Given the description of an element on the screen output the (x, y) to click on. 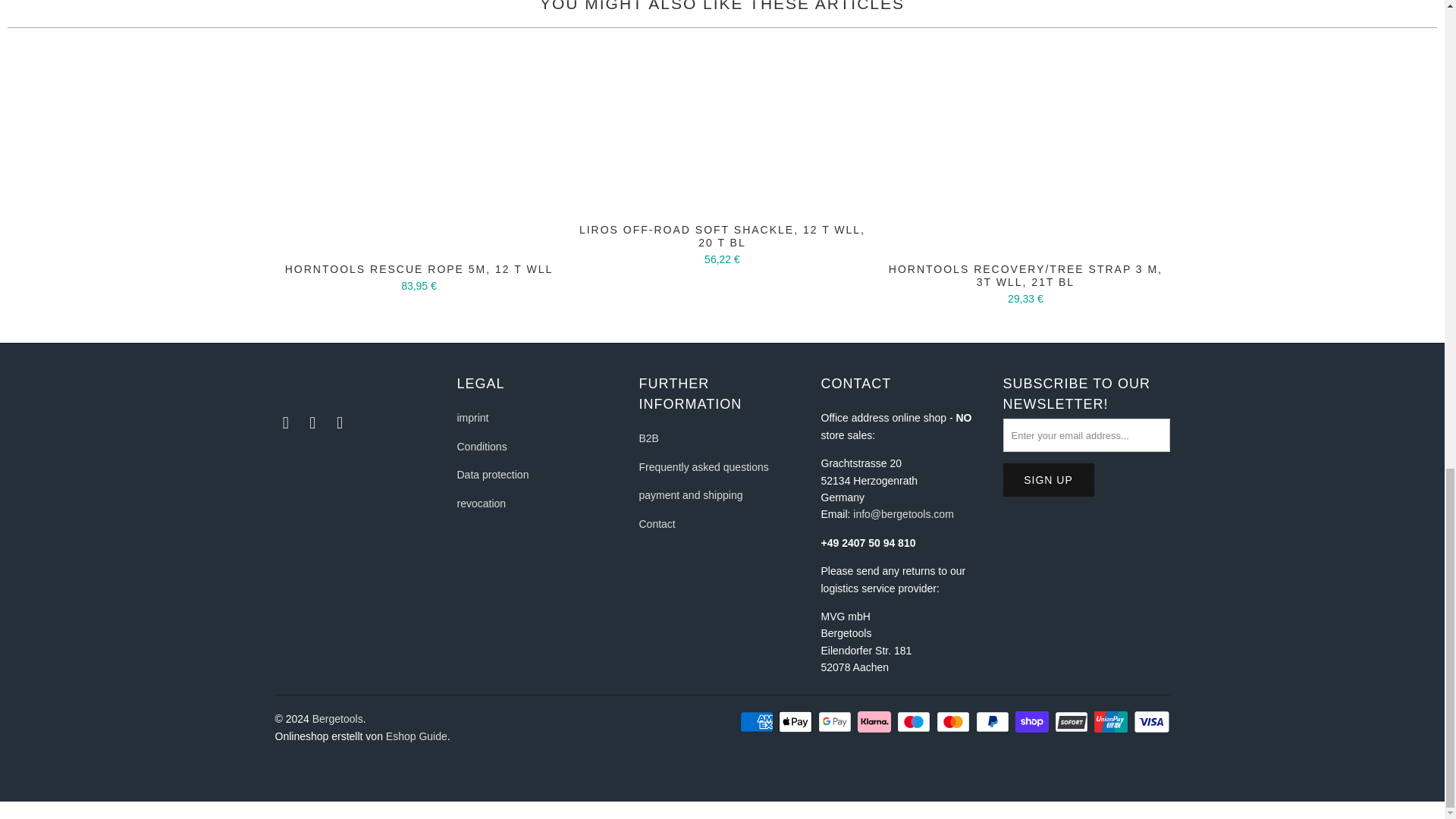
SOFORT (1072, 721)
PayPal (993, 721)
Mastercard (954, 721)
Sign Up (1048, 479)
Visa (1150, 721)
Bergetools on Instagram (312, 423)
Maestro (914, 721)
Apple Pay (796, 721)
Email Bergetools (340, 423)
Union Pay (1112, 721)
American Express (757, 721)
Google Pay (836, 721)
Klarna (875, 721)
Shop Pay (1032, 721)
Bergetools on Facebook (286, 423)
